Given the description of an element on the screen output the (x, y) to click on. 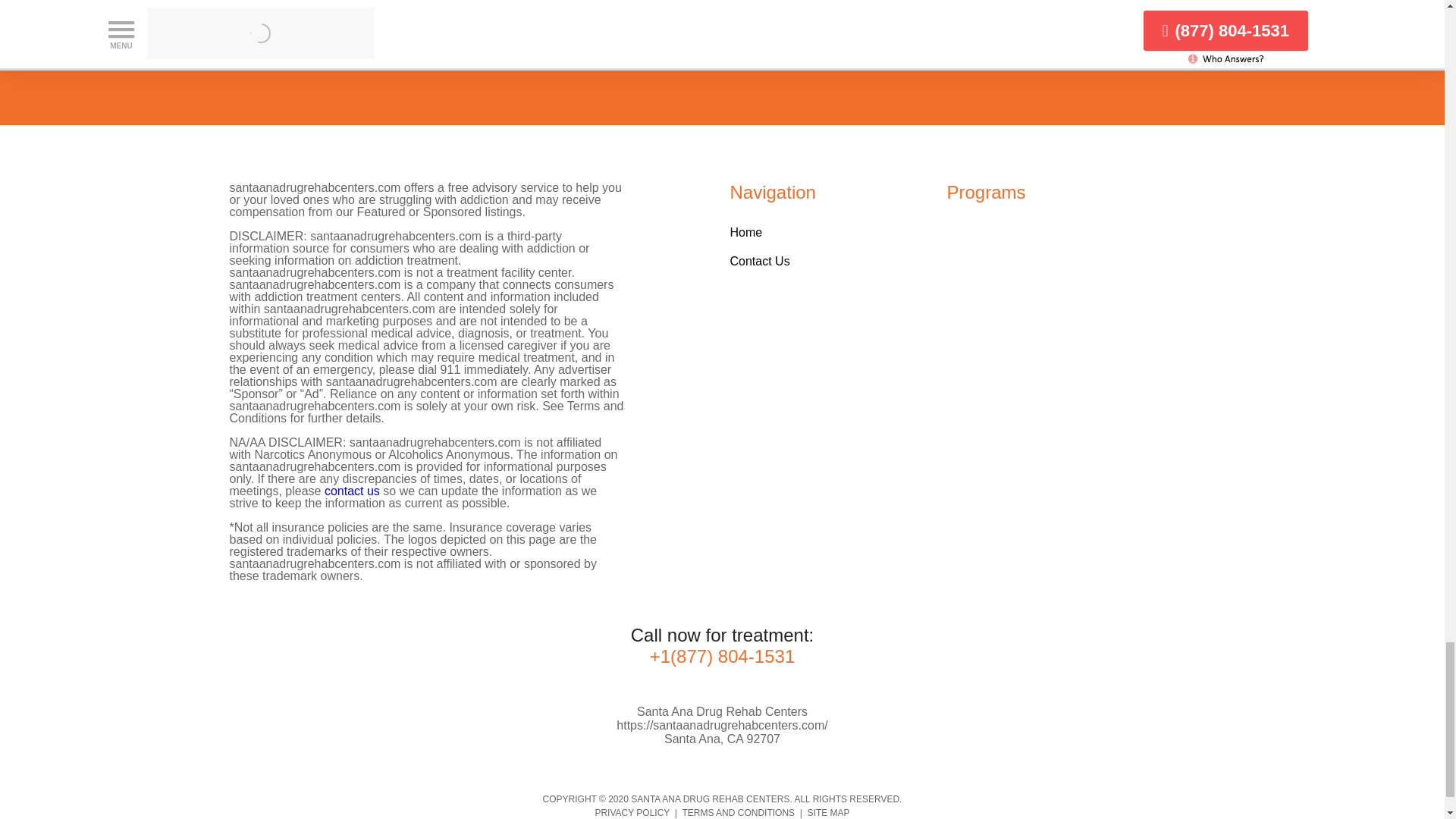
Contact Us (759, 260)
TERMS AND CONDITIONS (737, 812)
PRIVACY POLICY (631, 812)
contact us (352, 490)
SITE MAP (829, 812)
Home (745, 232)
